Given the description of an element on the screen output the (x, y) to click on. 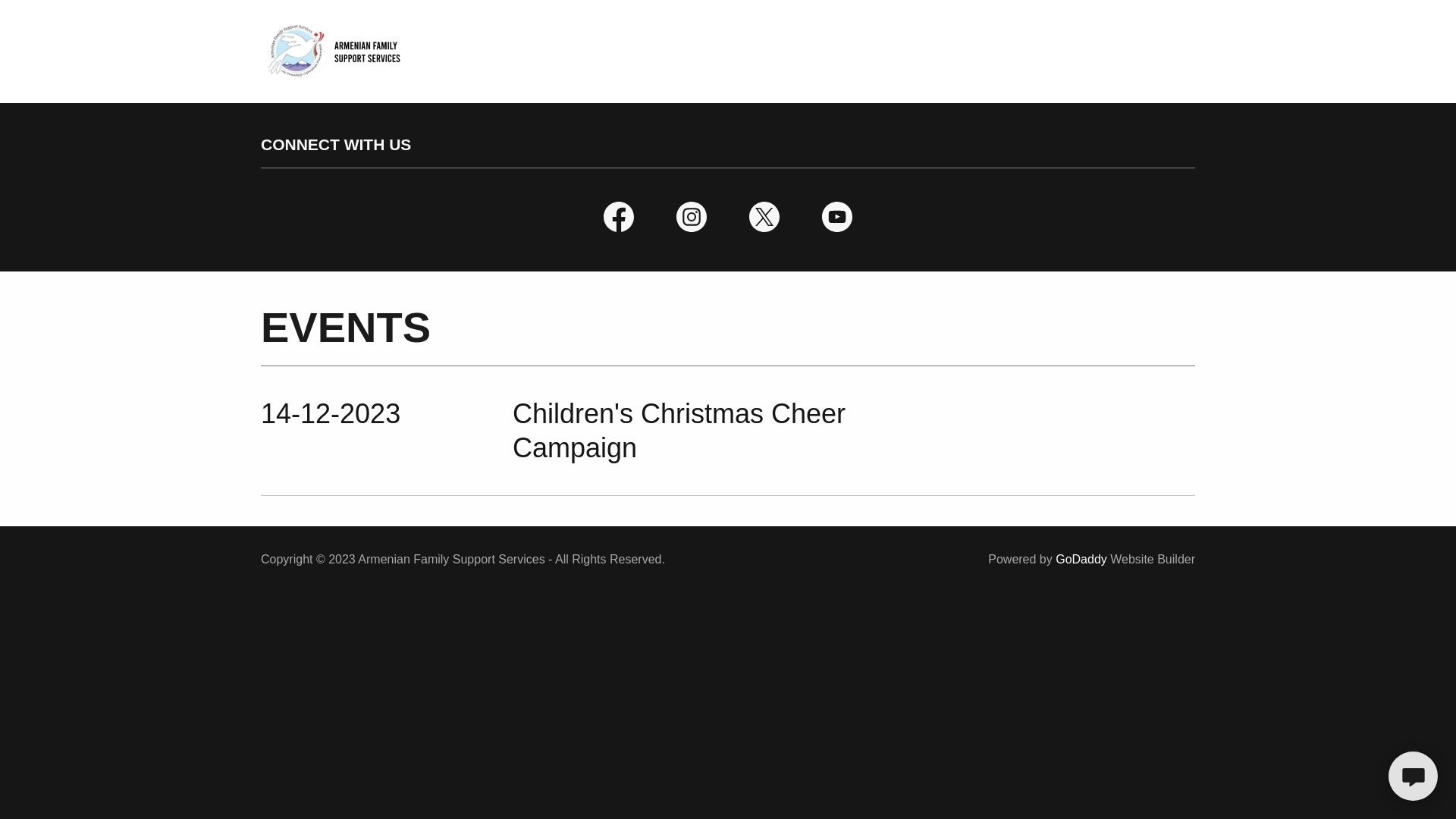
Armenian Family Support Services Element type: hover (330, 50)
GoDaddy Element type: text (1081, 558)
